Given the description of an element on the screen output the (x, y) to click on. 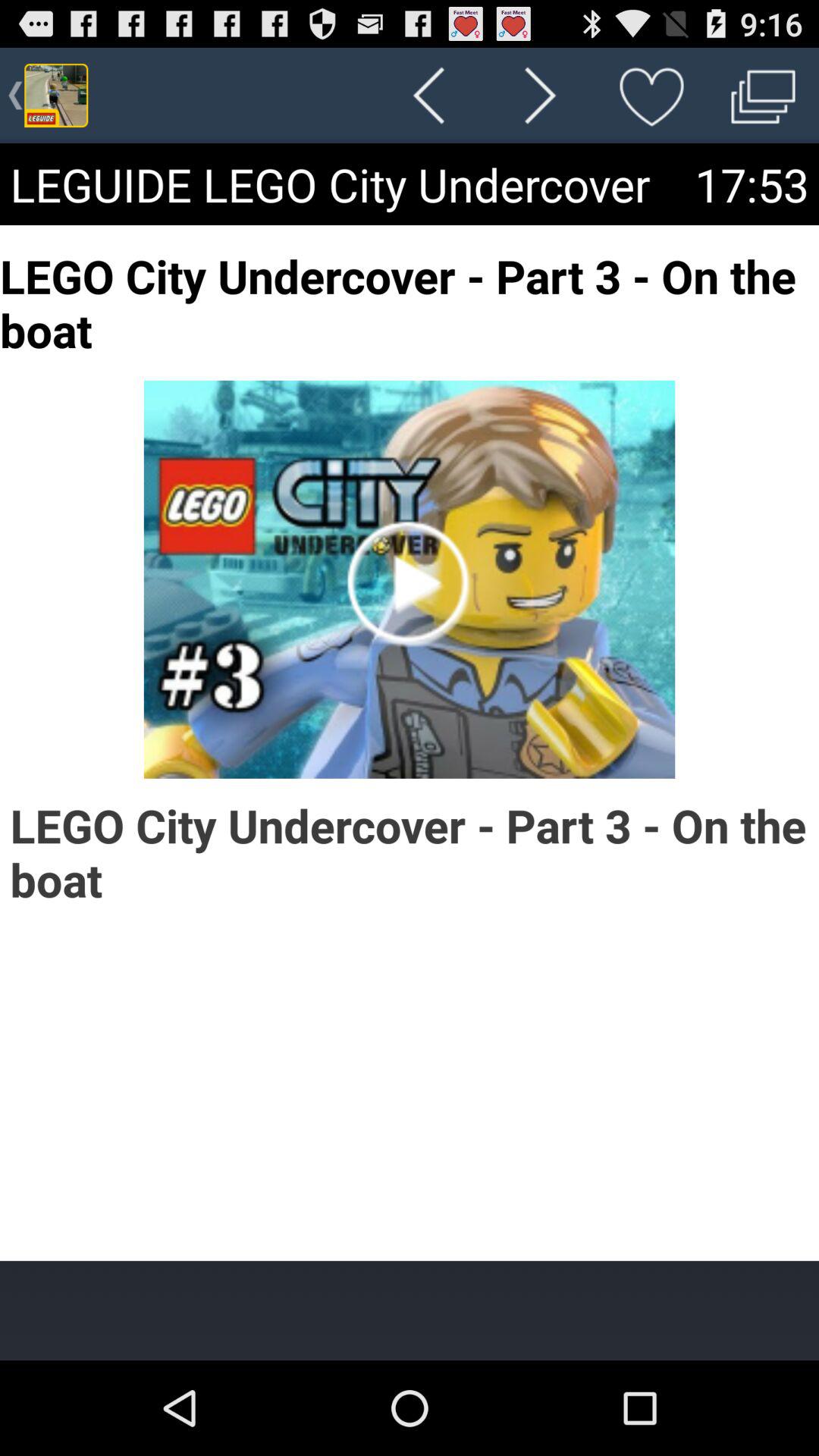
launch the icon above the leguide lego city icon (428, 95)
